Given the description of an element on the screen output the (x, y) to click on. 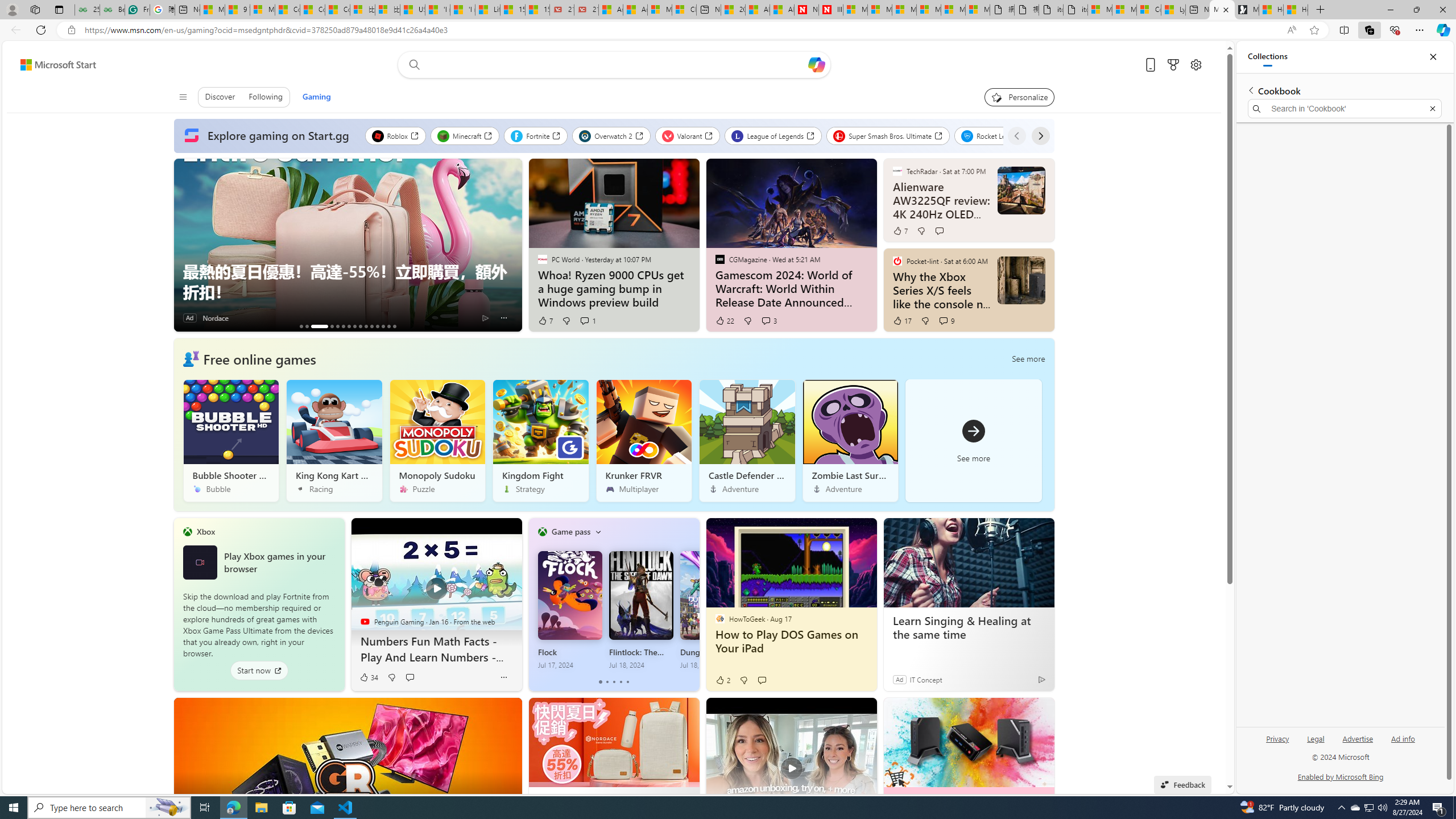
This is the gaming PC you should buy under $1,000 (300, 326)
Nordace (215, 317)
Overwatch 2 (610, 135)
Privacy (1278, 738)
Feedback (1182, 784)
Discover (219, 96)
Amazon Games Has Plans for Switch 2 Console (377, 326)
tab-2 (613, 682)
See more (1039, 711)
AutomationID: nativead-infopane-3-ad-choice (485, 317)
Discover (219, 97)
